Given the description of an element on the screen output the (x, y) to click on. 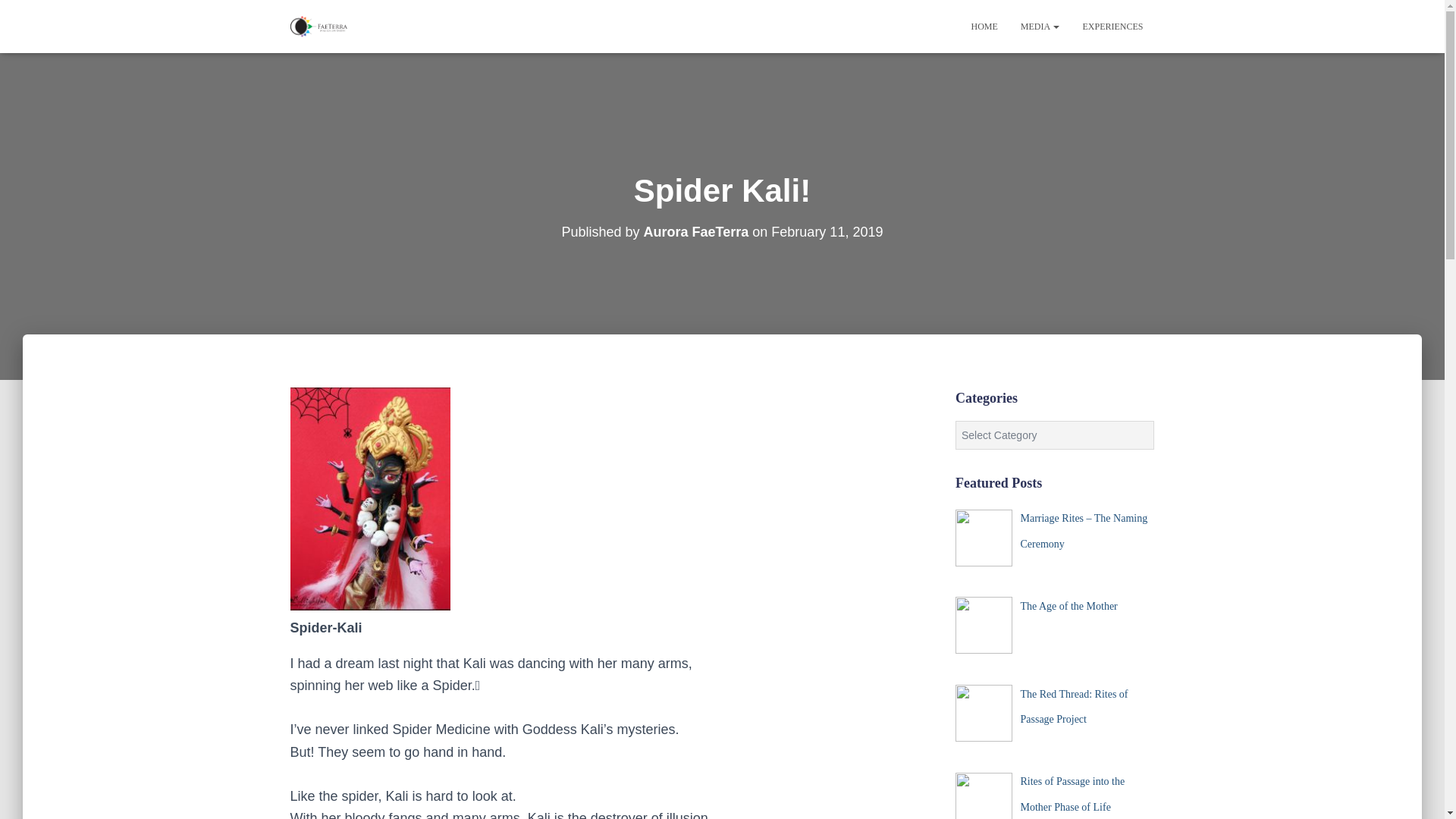
FaeTerra (318, 26)
Home (984, 26)
Aurora FaeTerra (696, 231)
HOME (984, 26)
MEDIA (1040, 26)
Media (1040, 26)
Rites of Passage into the Mother Phase of Life (1072, 794)
Experiences (1112, 26)
The Age of the Mother (1068, 605)
The Red Thread: Rites of Passage Project (1073, 706)
EXPERIENCES (1112, 26)
